Given the description of an element on the screen output the (x, y) to click on. 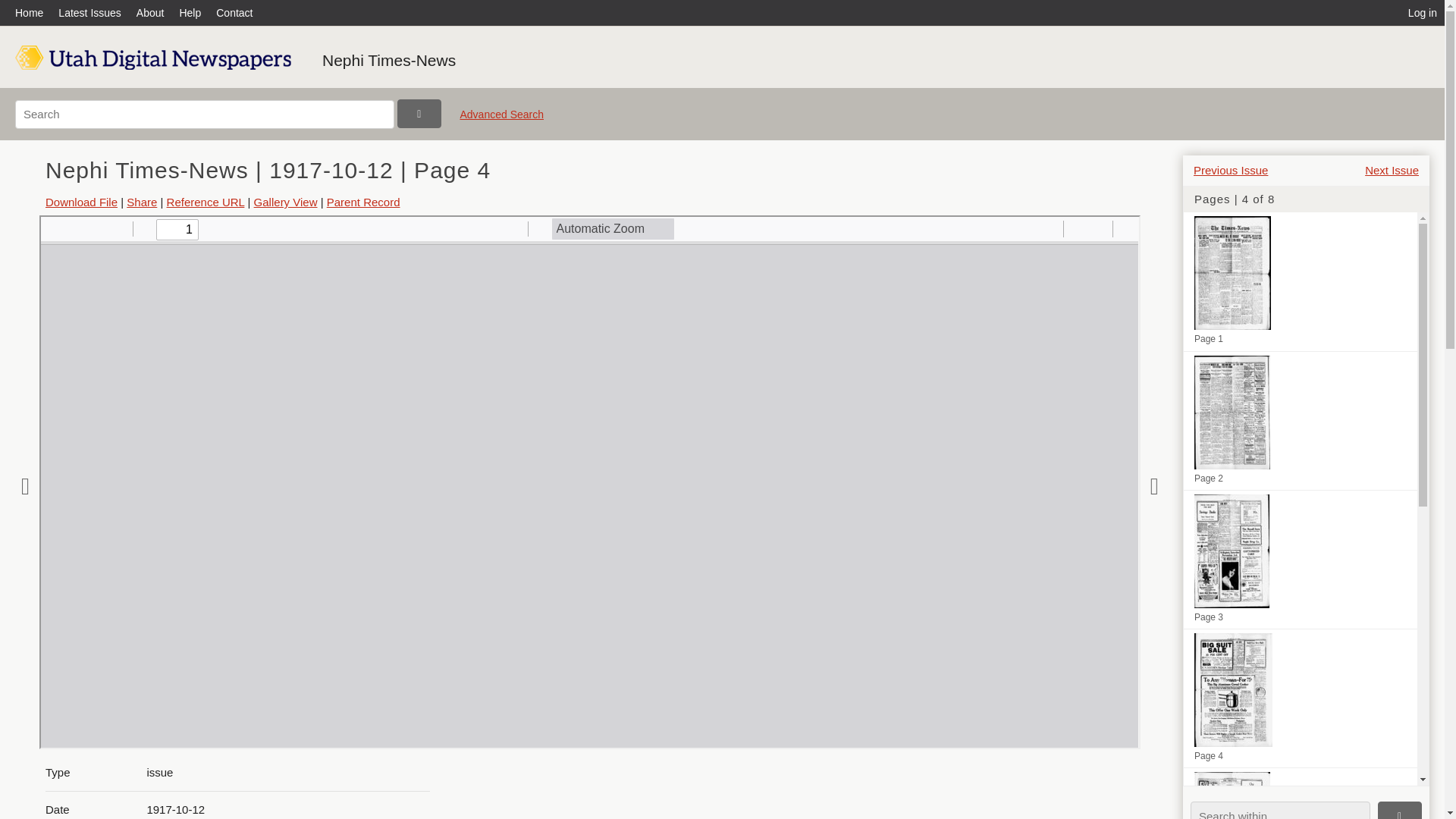
Home (32, 12)
Contact (234, 12)
Page 5 (1299, 793)
Next Issue (1391, 169)
Parent Record (363, 201)
Download - 510.55K (81, 201)
Share (141, 201)
Gallery View (285, 201)
Advanced Search (501, 120)
Parent Record (363, 201)
Reference URL (205, 201)
Latest Issues (89, 12)
Page 4 (1299, 698)
Page 1 (1299, 281)
Nephi Times-News (388, 59)
